Given the description of an element on the screen output the (x, y) to click on. 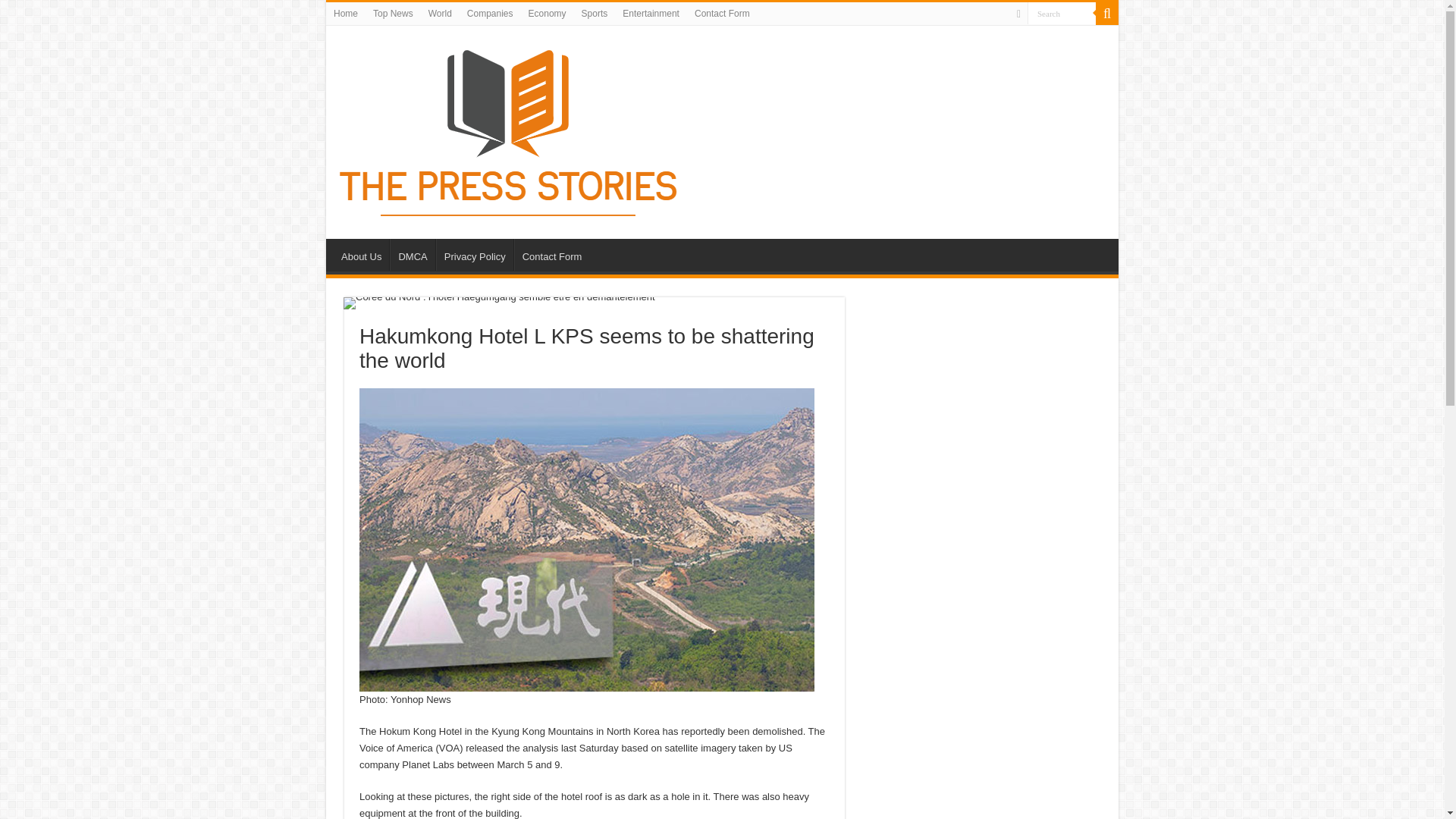
About Us (360, 255)
Economy (547, 13)
DMCA (411, 255)
Search (1061, 13)
Privacy Policy (474, 255)
Contact Form (551, 255)
Home (345, 13)
Sports (594, 13)
Search (1107, 13)
Entertainment (650, 13)
Search (1061, 13)
Contact Form (722, 13)
Search (1061, 13)
World (440, 13)
The Press Stories (509, 129)
